Given the description of an element on the screen output the (x, y) to click on. 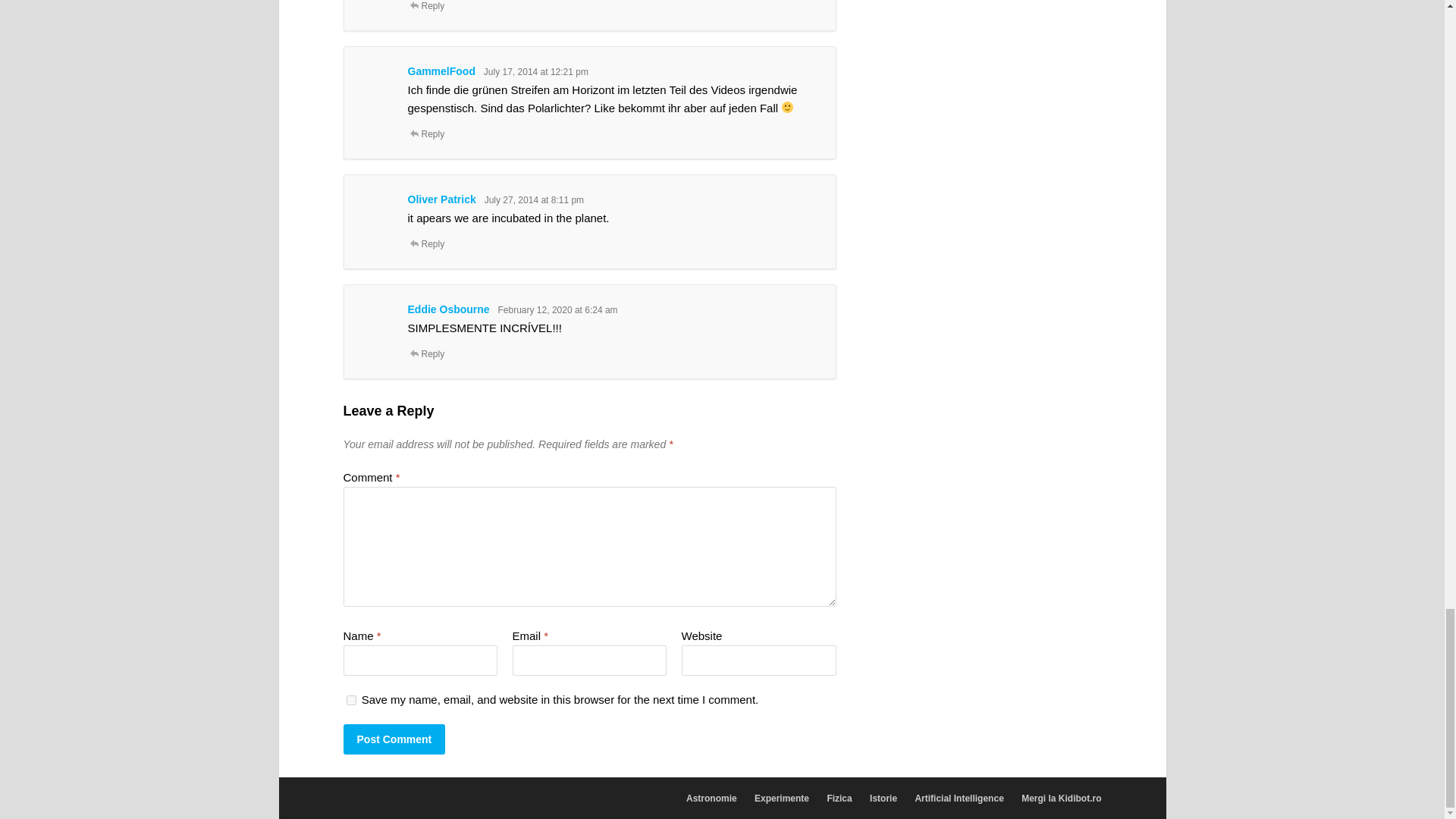
Post Comment (393, 738)
yes (350, 700)
